Given the description of an element on the screen output the (x, y) to click on. 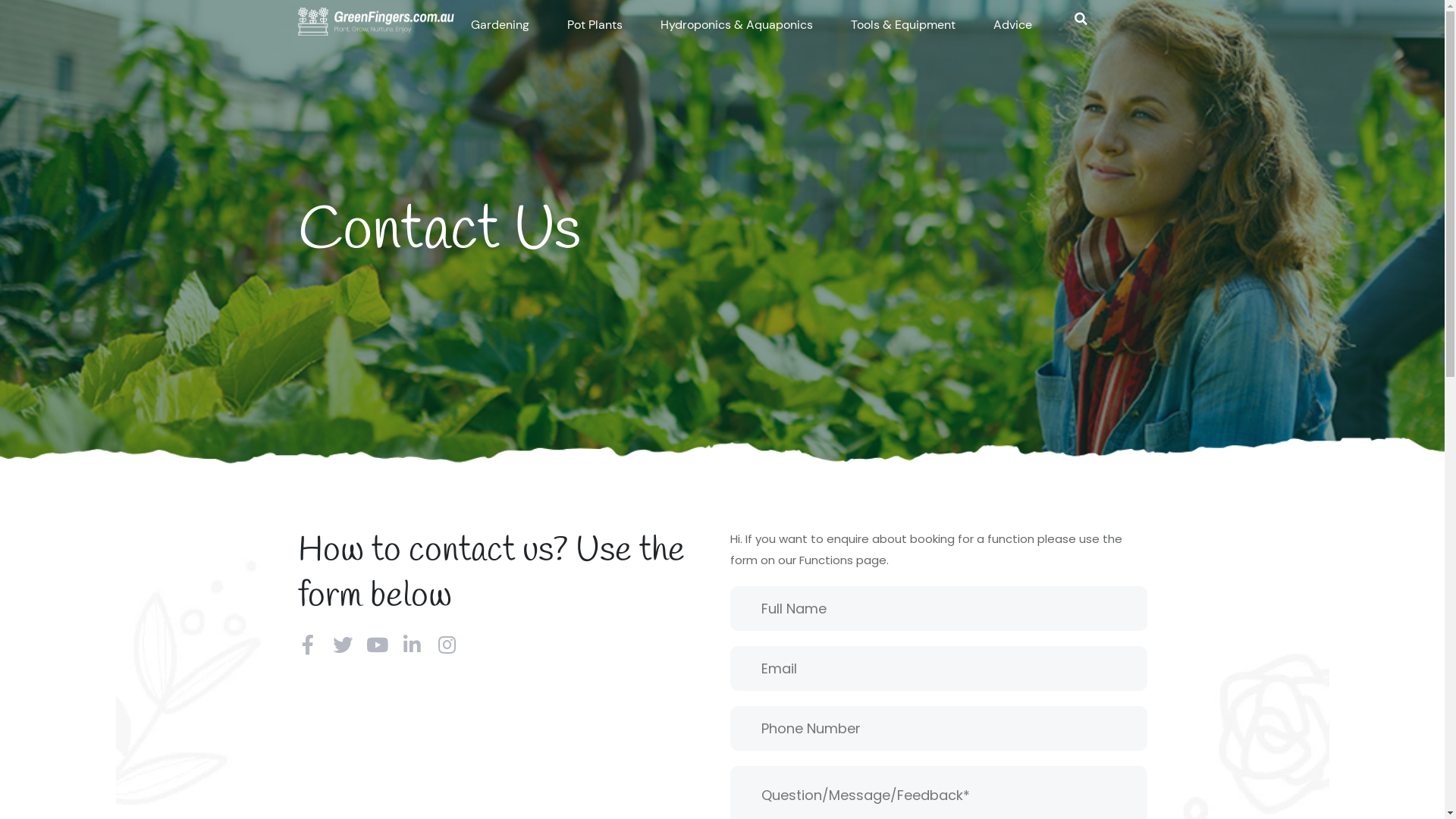
Tools & Equipment Element type: text (902, 24)
Gardening Element type: text (499, 24)
Hydroponics & Aquaponics Element type: text (735, 24)
Advice Element type: text (1012, 24)
Pot Plants Element type: text (594, 24)
